Given the description of an element on the screen output the (x, y) to click on. 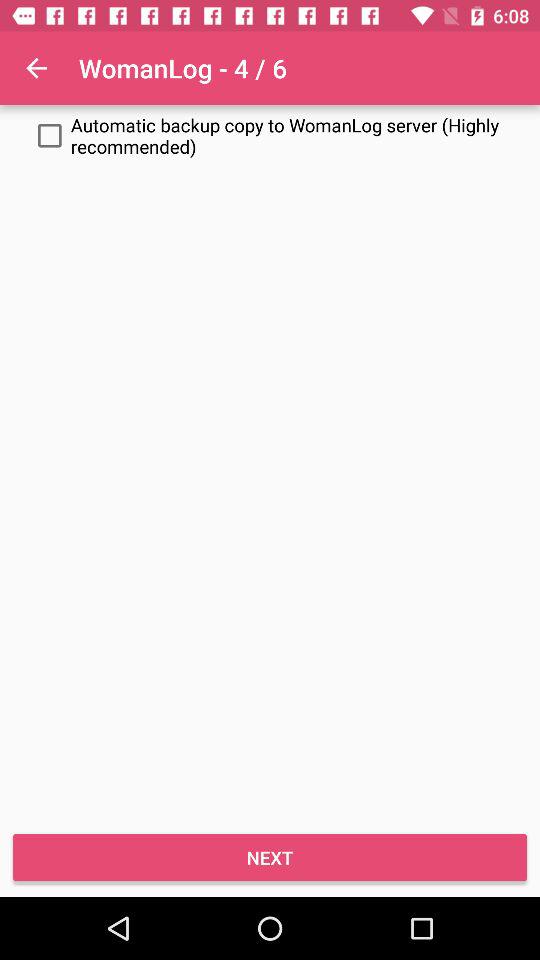
select item below automatic backup copy icon (269, 857)
